Given the description of an element on the screen output the (x, y) to click on. 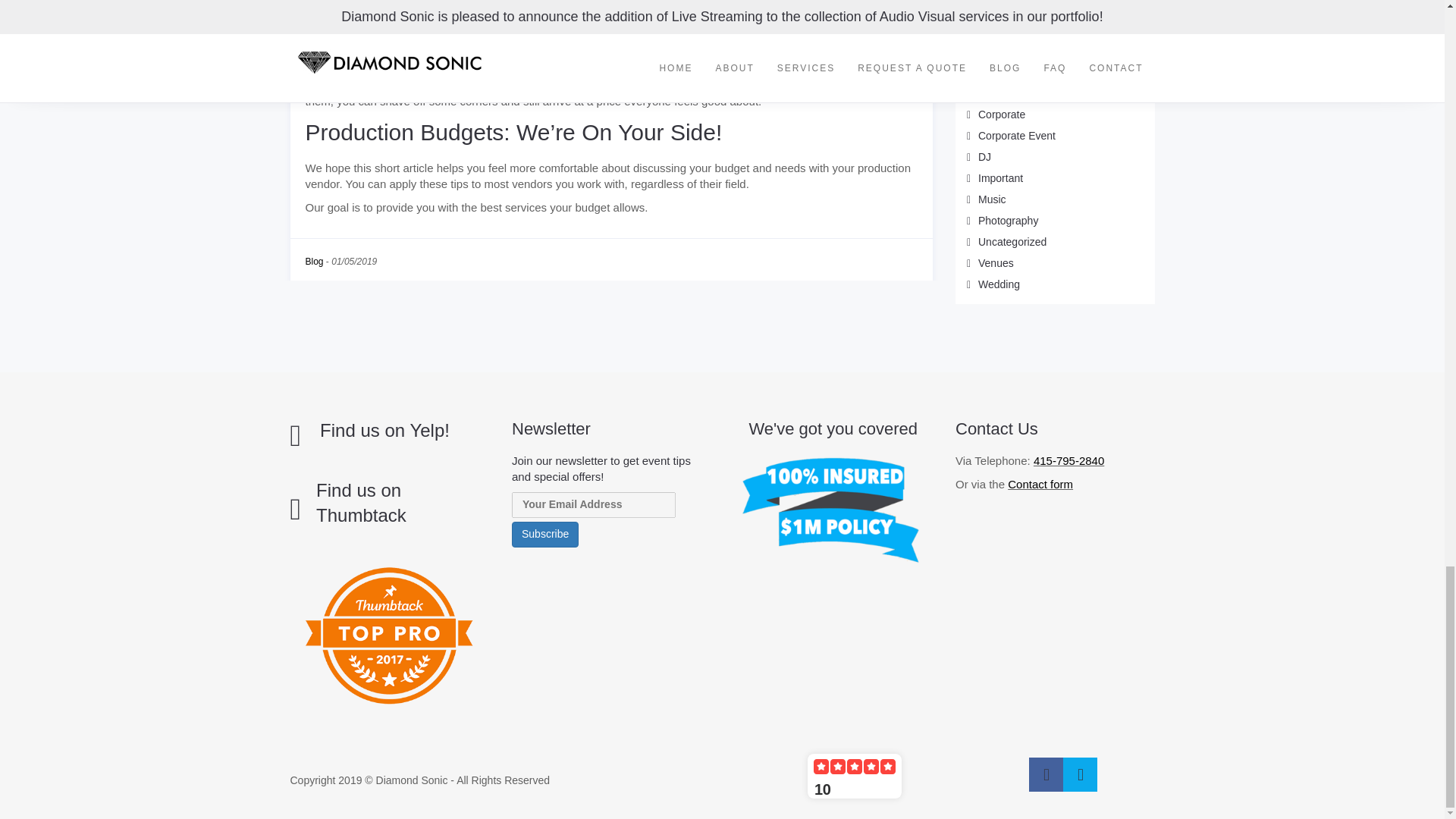
aim somewhere in the middle (645, 29)
Blog (313, 261)
Diamond Sonic on Twitter (1079, 774)
Diamond Sonic on Facebook (1045, 774)
Thumbtack Top Pro 2017 - DiamondSonic (389, 635)
